Given the description of an element on the screen output the (x, y) to click on. 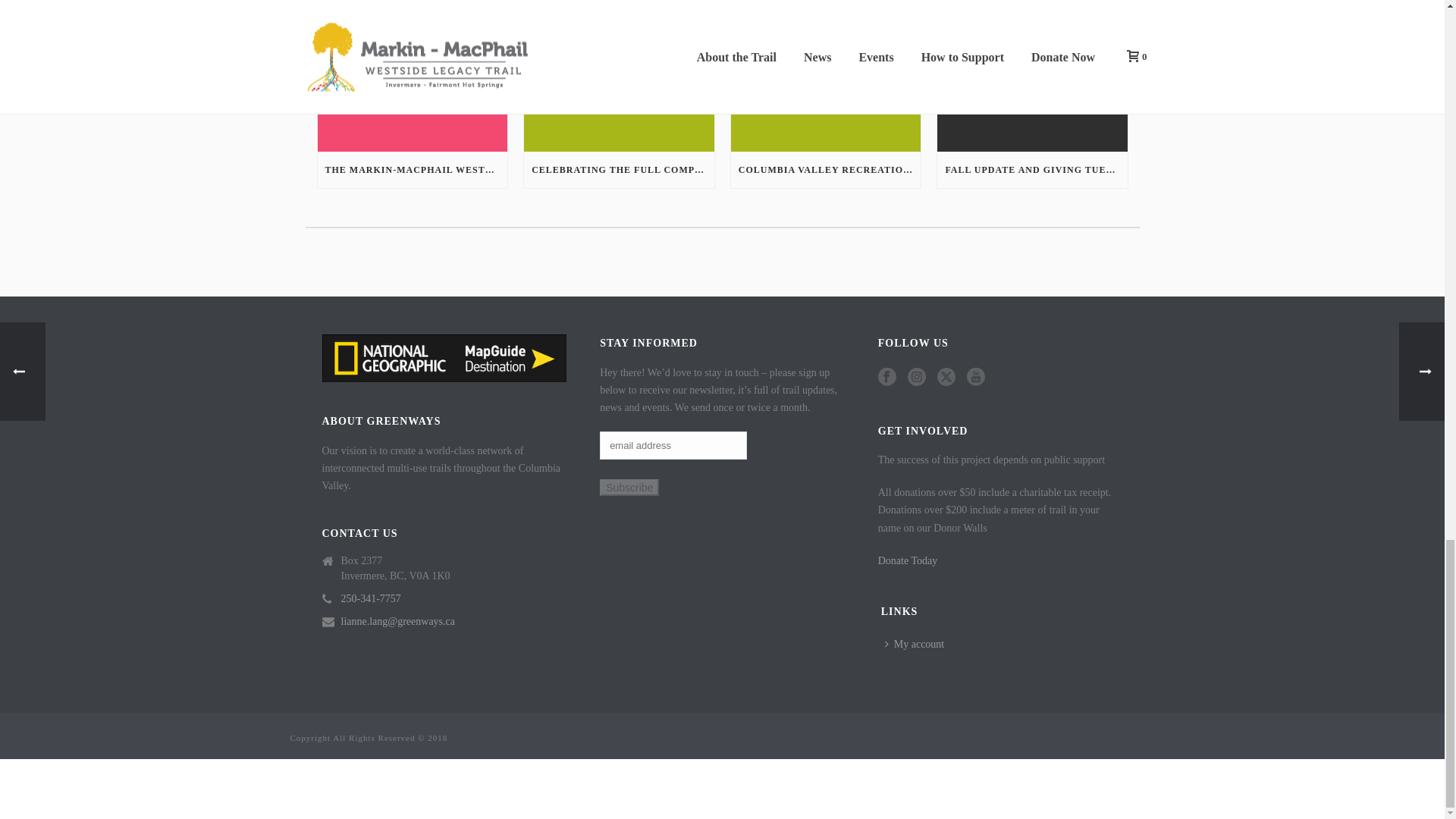
The Markin-MacPhail Westside Legacy Trail is Complete! (411, 75)
Subscribe (629, 487)
Fall Update And Giving Tuesday (1031, 75)
Columbia Valley Recreation Planning Initiative Online Survey (825, 75)
Follow Us on youtube (975, 377)
